Given the description of an element on the screen output the (x, y) to click on. 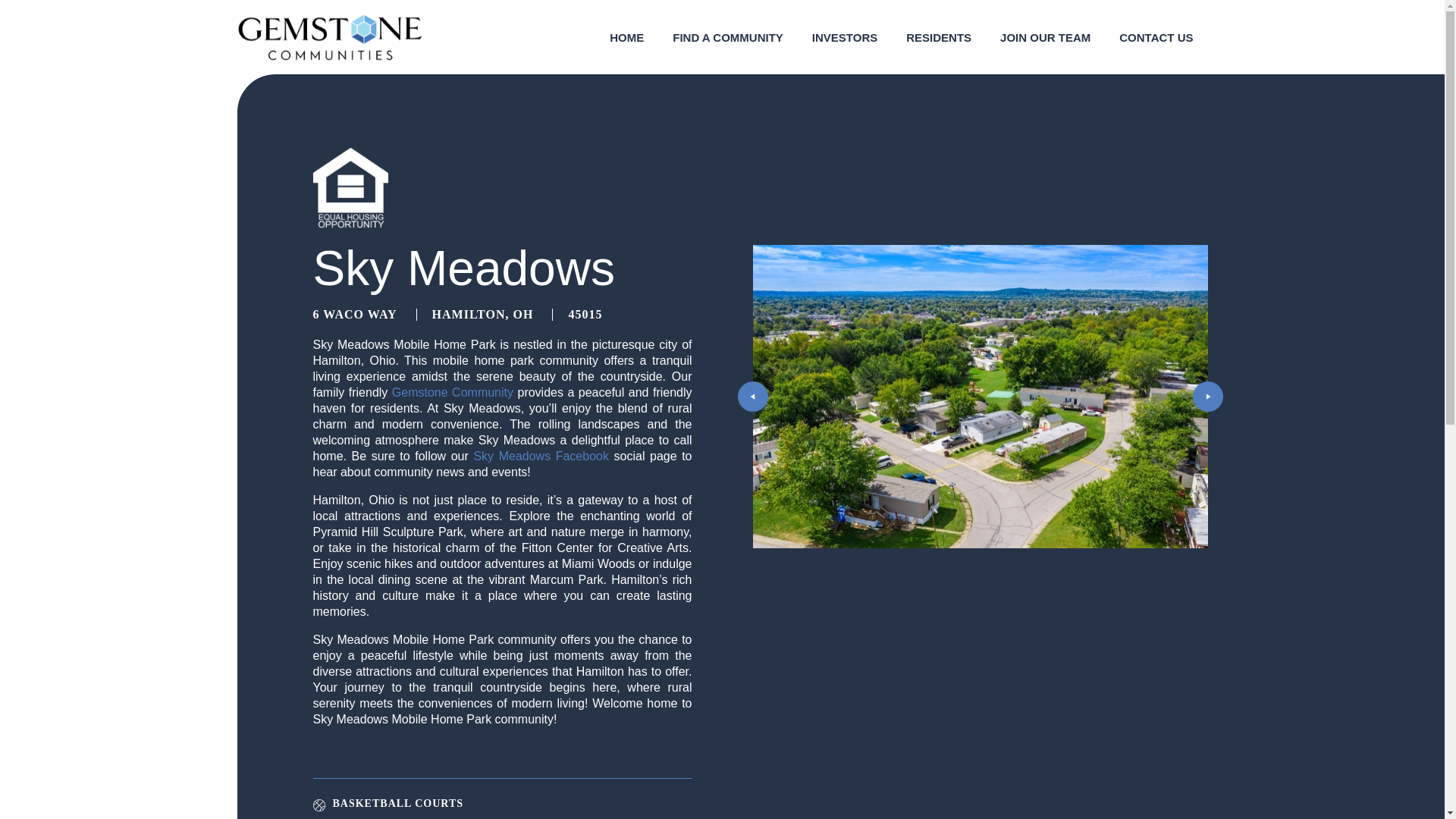
FIND A COMMUNITY (727, 37)
JOIN OUR TEAM (1045, 37)
Gemstone (328, 36)
INVESTORS (844, 37)
Gemstone Community (452, 391)
RESIDENTS (938, 37)
HOME (626, 37)
Sky Meadows Facebook (540, 455)
CONTACT US (1156, 37)
